Given the description of an element on the screen output the (x, y) to click on. 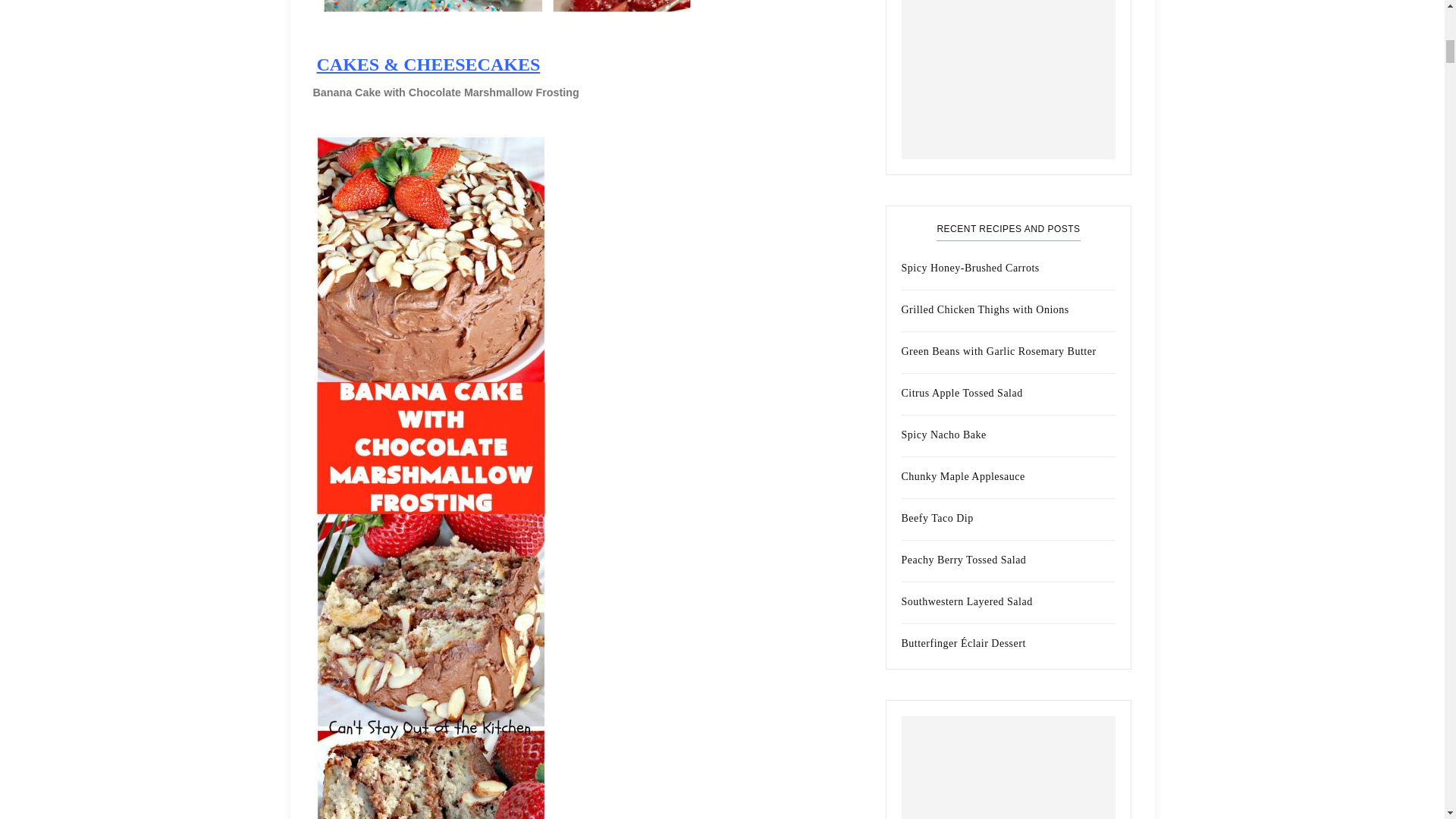
banana cake with chocolate marshmallow frosting (445, 92)
Banana Cake with Chocolate Marshmallow Frosting (445, 92)
